Given the description of an element on the screen output the (x, y) to click on. 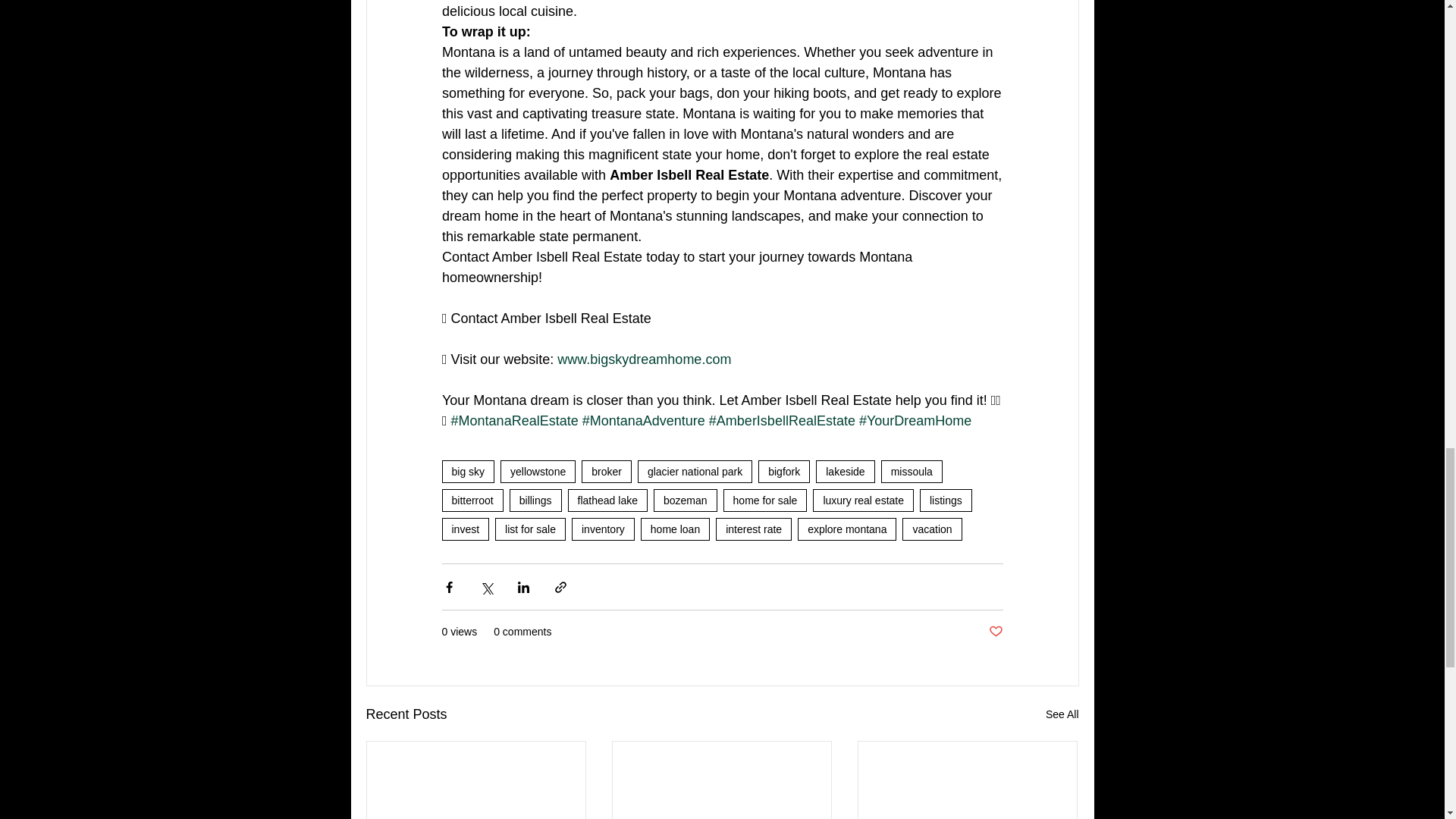
yellowstone (537, 471)
missoula (911, 471)
bigfork (783, 471)
big sky (468, 471)
home for sale (765, 499)
listings (946, 499)
broker (605, 471)
list for sale (530, 528)
billings (535, 499)
home loan (675, 528)
interest rate (754, 528)
vacation (931, 528)
inventory (603, 528)
glacier national park (694, 471)
flathead lake (607, 499)
